Given the description of an element on the screen output the (x, y) to click on. 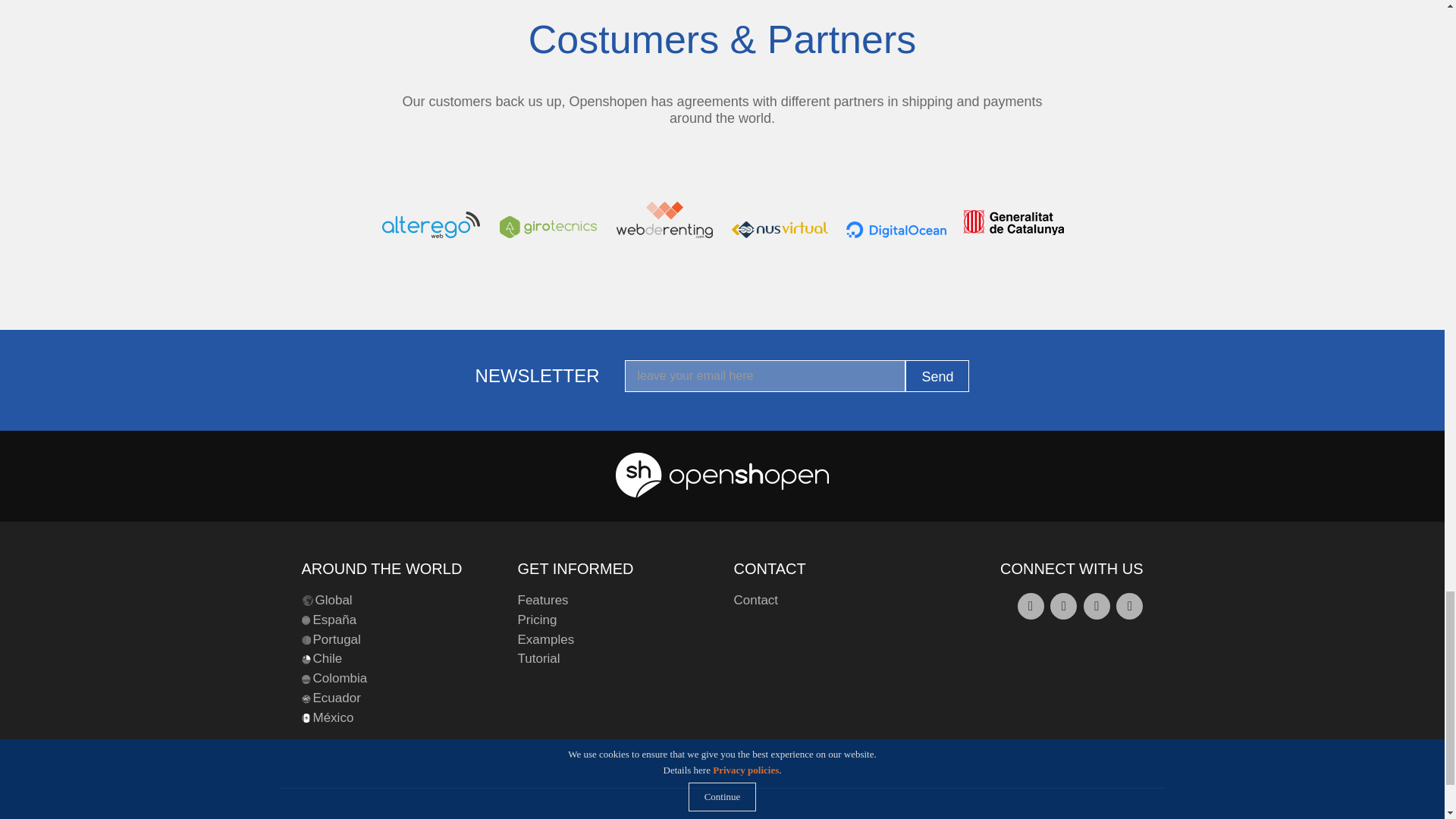
Global (333, 600)
Contact (755, 600)
Examples (544, 639)
Colombia (339, 678)
Tutorial (537, 658)
Colombia (339, 678)
Features (541, 600)
Portugal (336, 639)
Pricing (536, 620)
Ecuador (336, 698)
Global (333, 600)
Ecuador (336, 698)
Portugal (336, 639)
Chile (327, 658)
Chile (327, 658)
